Given the description of an element on the screen output the (x, y) to click on. 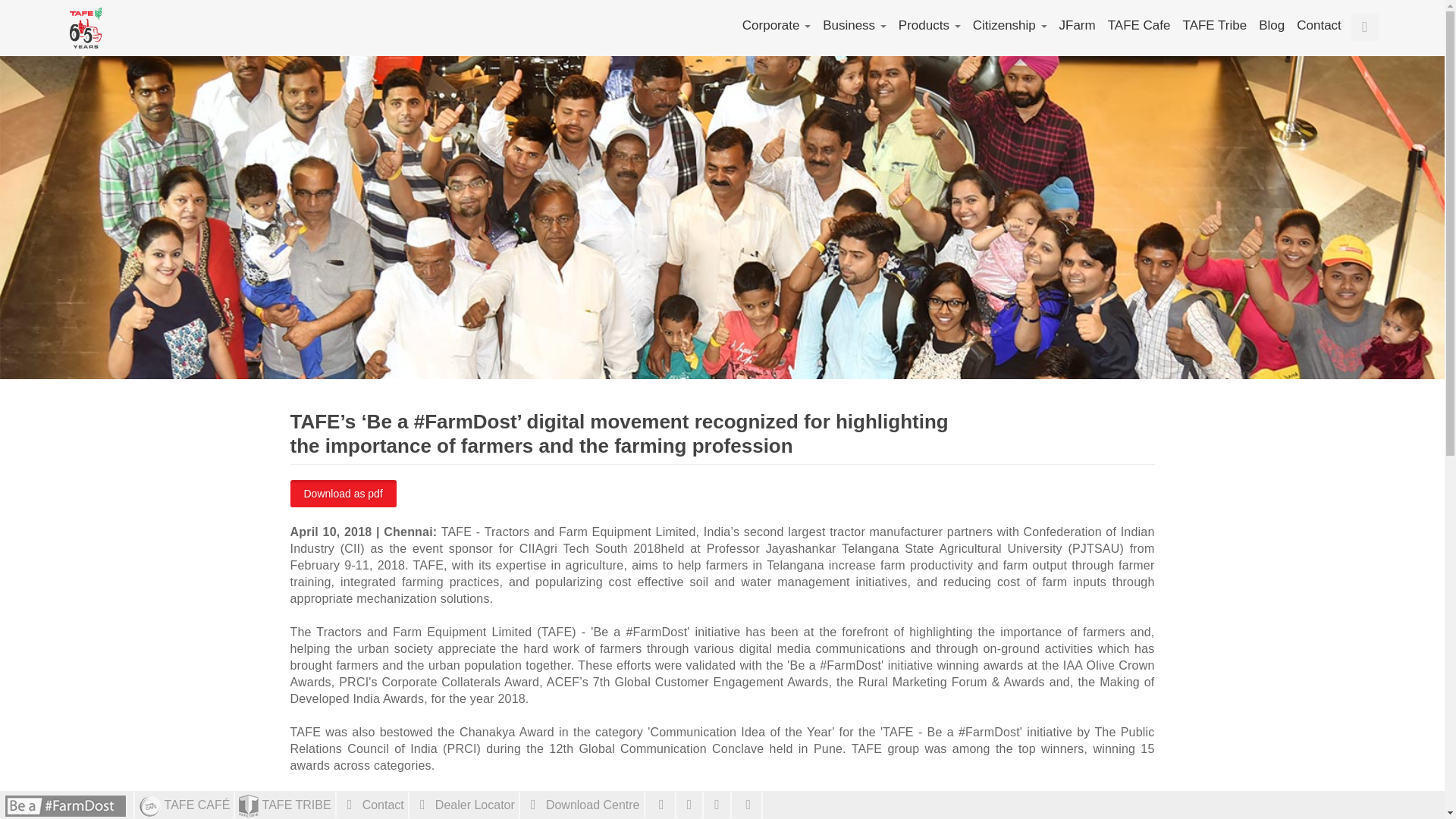
Business (853, 26)
Corporate (775, 26)
Products (929, 26)
